Given the description of an element on the screen output the (x, y) to click on. 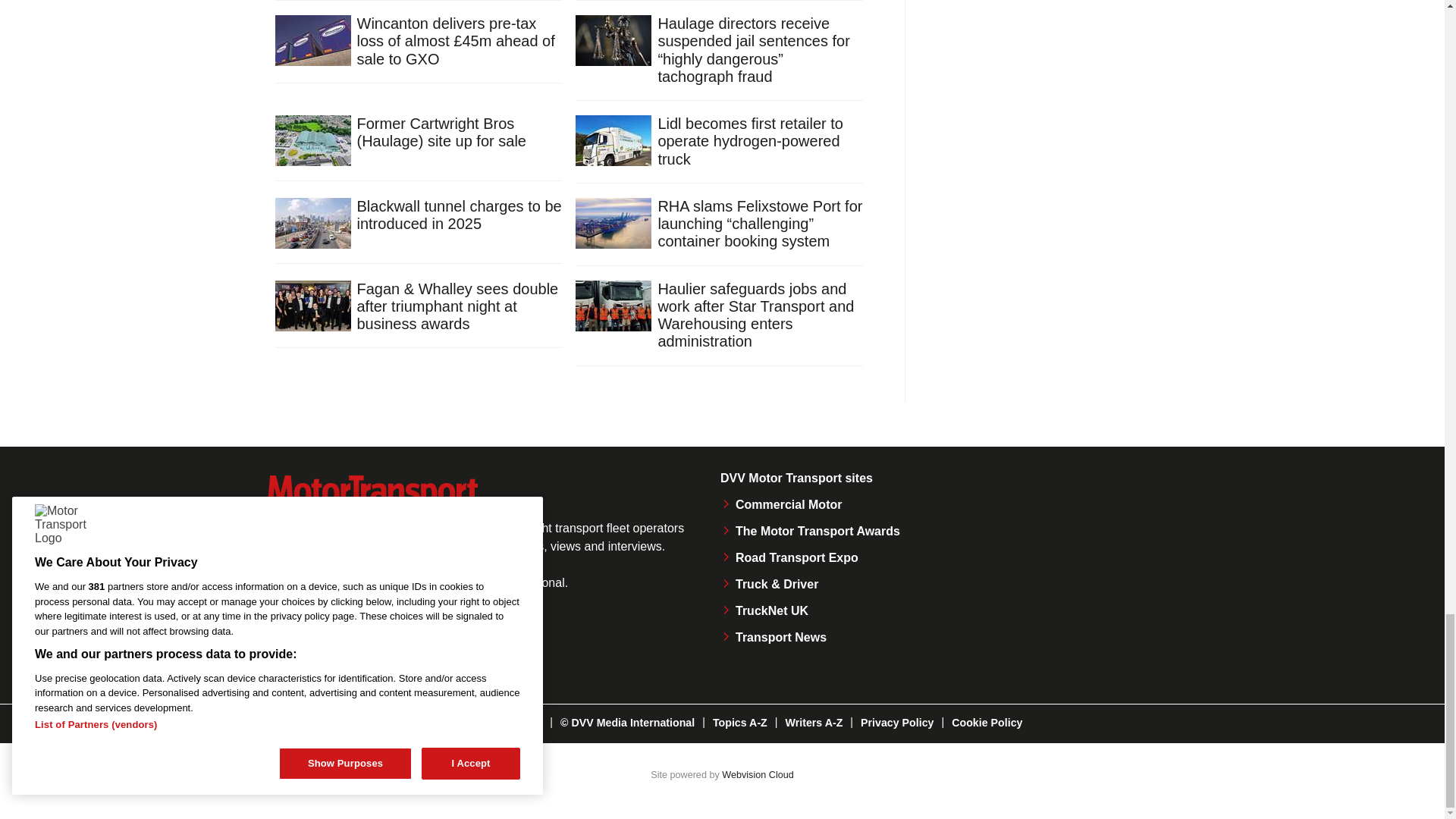
Connect with us on Linked in (387, 648)
Email us (438, 648)
Connect with us on Twitter (336, 648)
Connect with us on Facebook (284, 648)
